Given the description of an element on the screen output the (x, y) to click on. 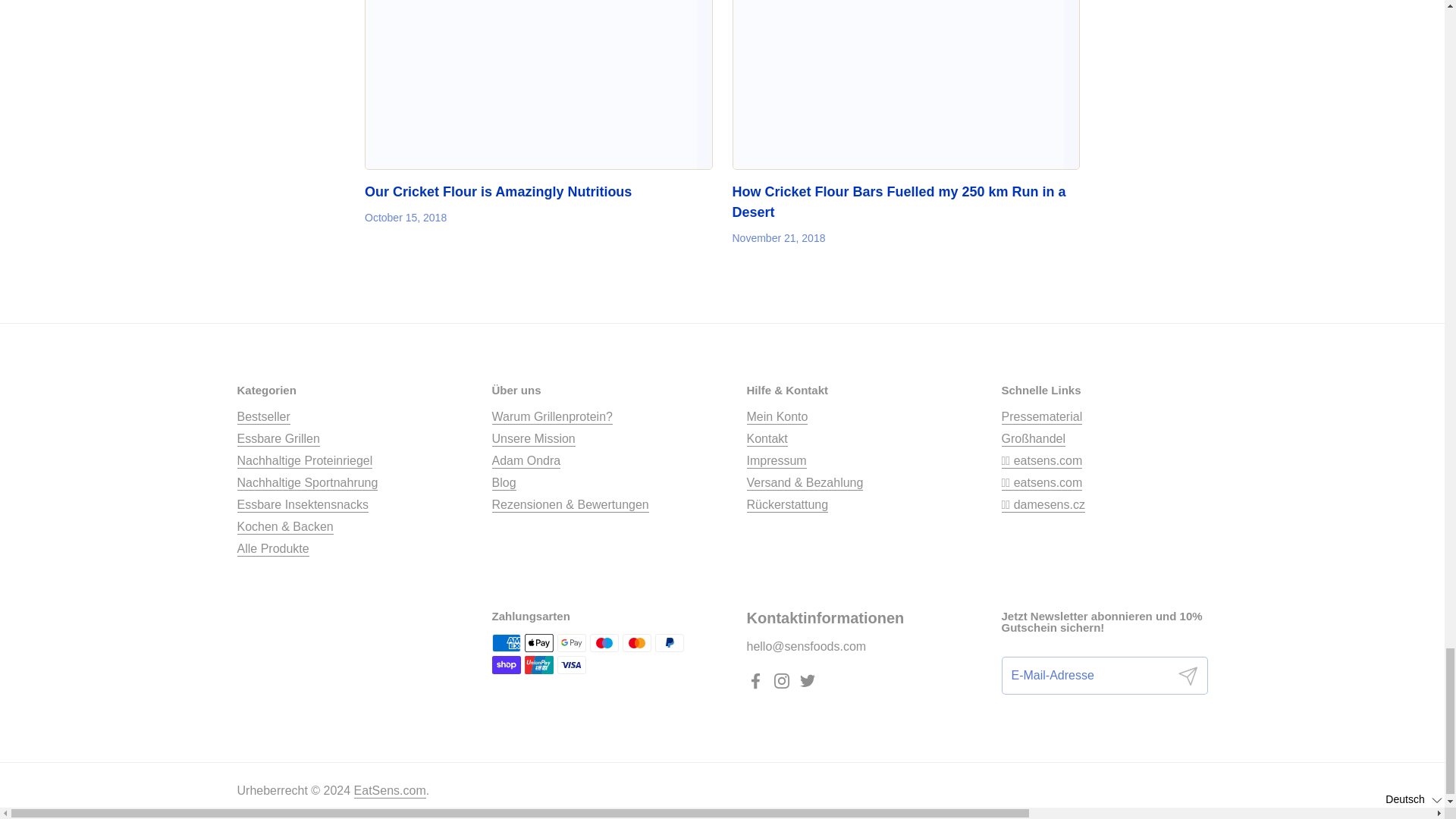
How Cricket Flour Bars Fuelled my 250 km Run in a Desert (898, 202)
Our Cricket Flour is Amazingly Nutritious (539, 84)
Our Cricket Flour is Amazingly Nutritious (498, 192)
How Cricket Flour Bars Fuelled my 250 km Run in a Desert (906, 84)
